Given the description of an element on the screen output the (x, y) to click on. 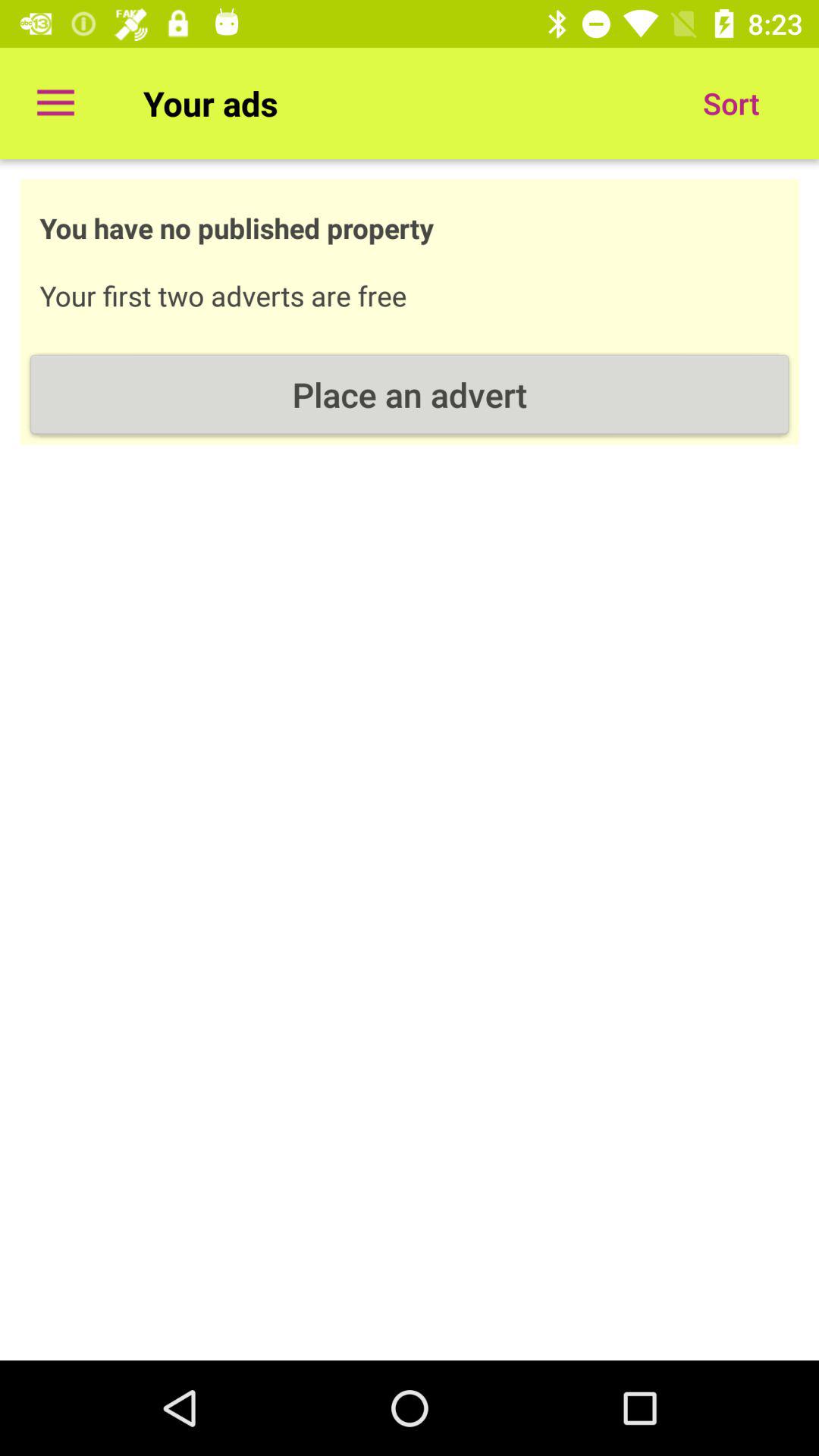
choose the icon above the place an advert item (731, 103)
